Given the description of an element on the screen output the (x, y) to click on. 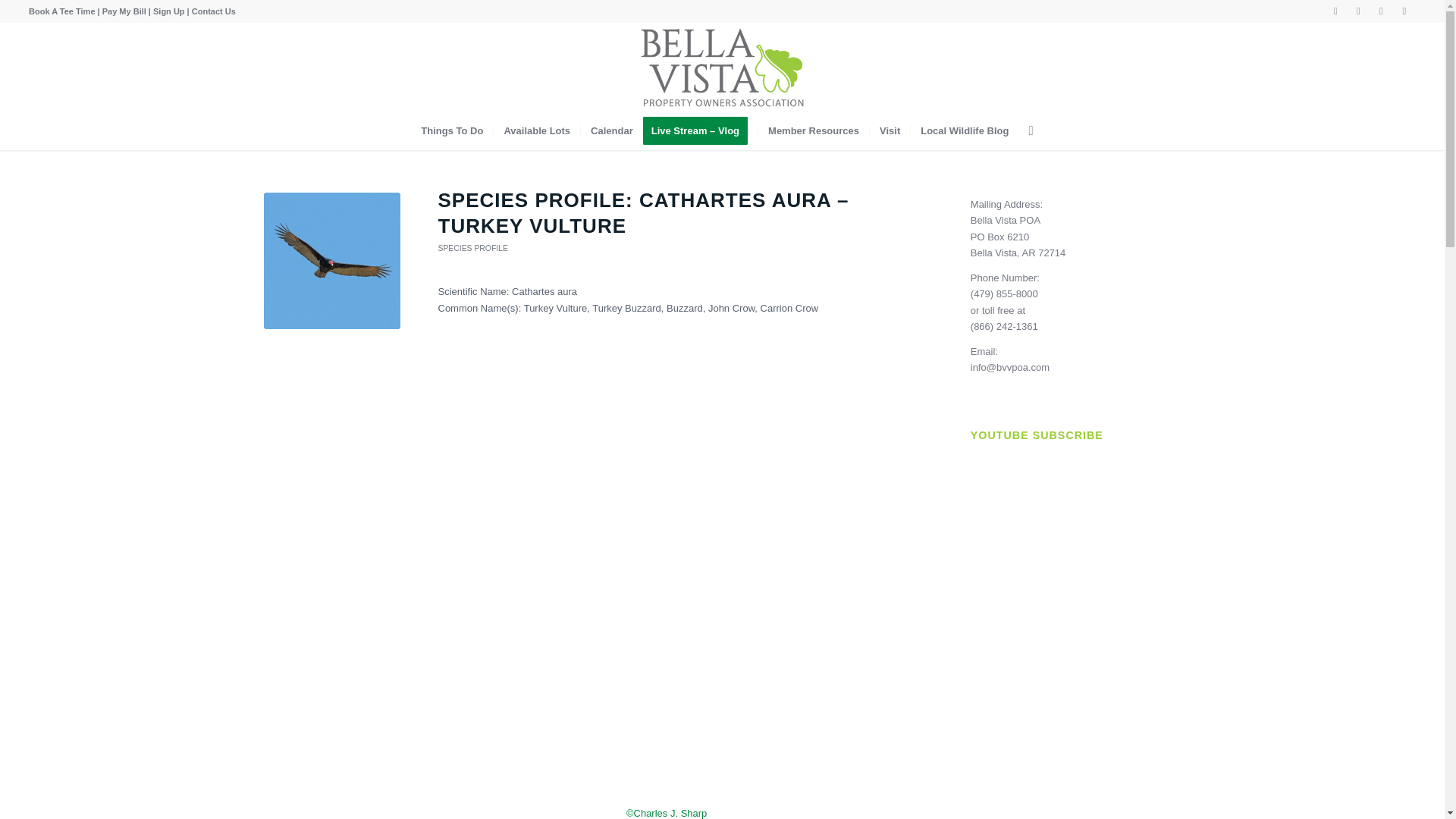
Youtube (1380, 11)
Facebook (1335, 11)
Member Resources (813, 130)
Visit (889, 130)
Mail (1404, 11)
Local Wildlife Blog (963, 130)
Turkey-Vulture-October-2021-ft (331, 260)
Pay My Bill (124, 10)
Book A Tee Time (61, 10)
Sign Up (168, 10)
Contact Us (213, 10)
Calendar (611, 130)
Instagram (1359, 11)
SPECIES PROFILE (473, 248)
Available Lots (536, 130)
